Given the description of an element on the screen output the (x, y) to click on. 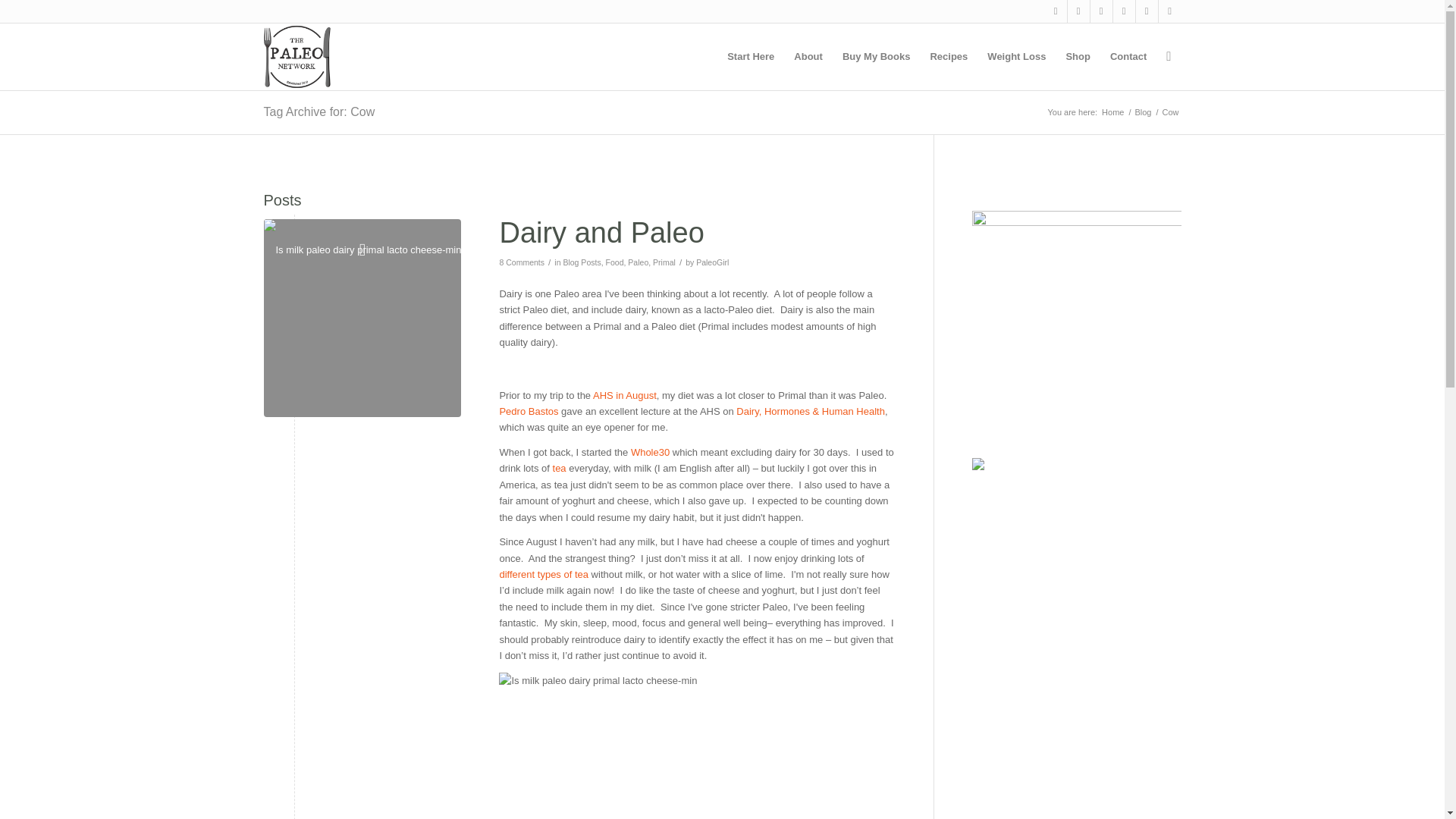
The Paleo Network (1112, 112)
AHS in August (624, 395)
Tag Archive for: Cow (319, 111)
Start Here (750, 56)
Weight Loss (1015, 56)
Instagram (1124, 11)
Posts by PaleoGirl (712, 261)
tea (559, 468)
Facebook (1078, 11)
Blog (1142, 112)
Pedro Bastos (528, 410)
Pinterest (1101, 11)
Blog Posts (580, 261)
Blog (1142, 112)
different types of tea (543, 573)
